Given the description of an element on the screen output the (x, y) to click on. 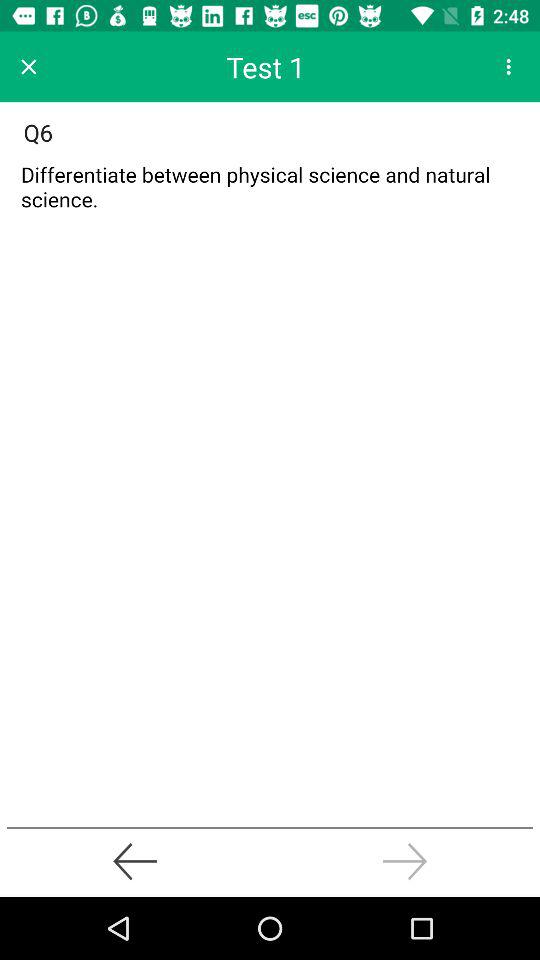
closes the app (28, 66)
